Given the description of an element on the screen output the (x, y) to click on. 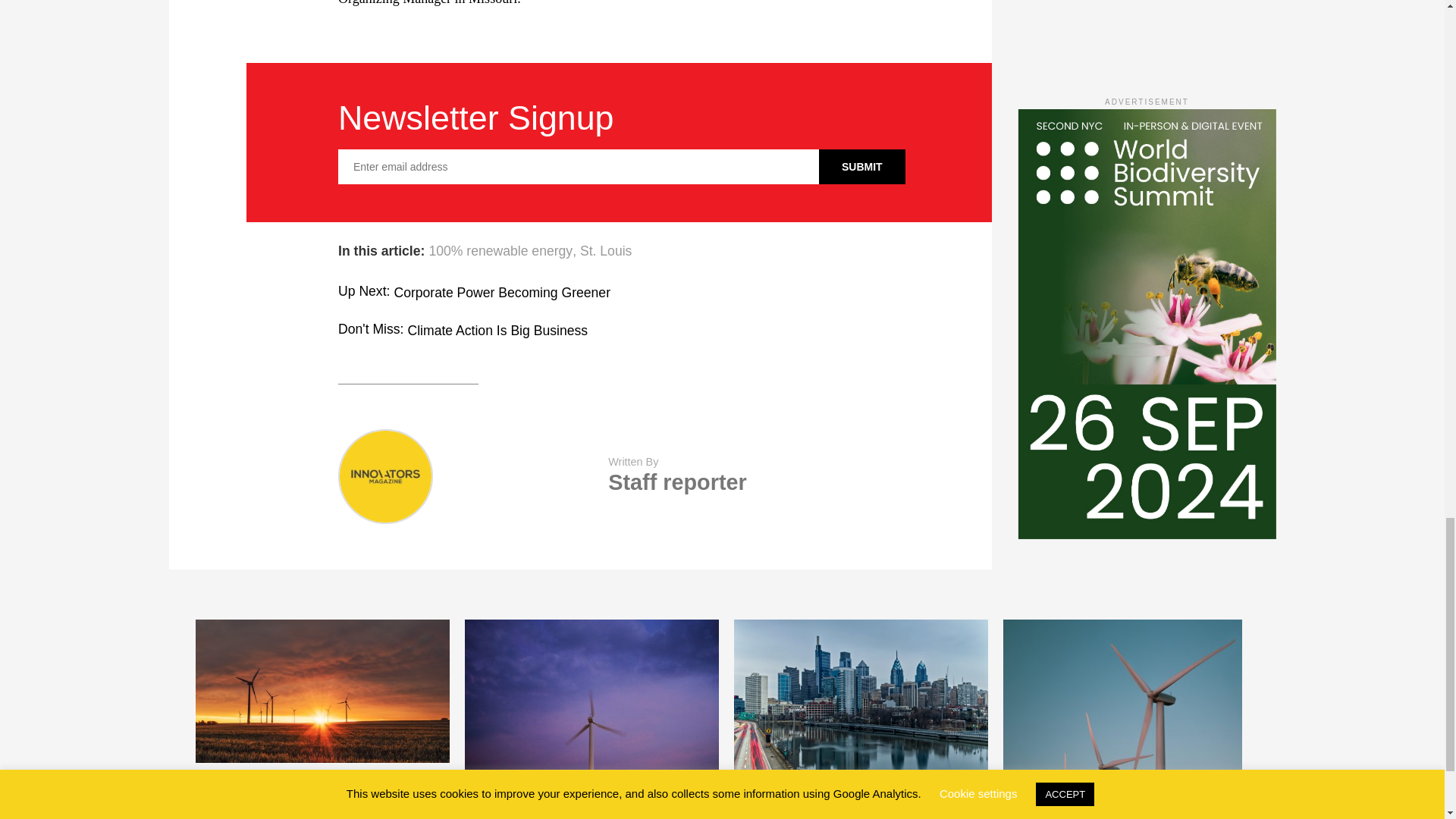
Posts by Staff reporter (676, 482)
Submit (861, 166)
